Given the description of an element on the screen output the (x, y) to click on. 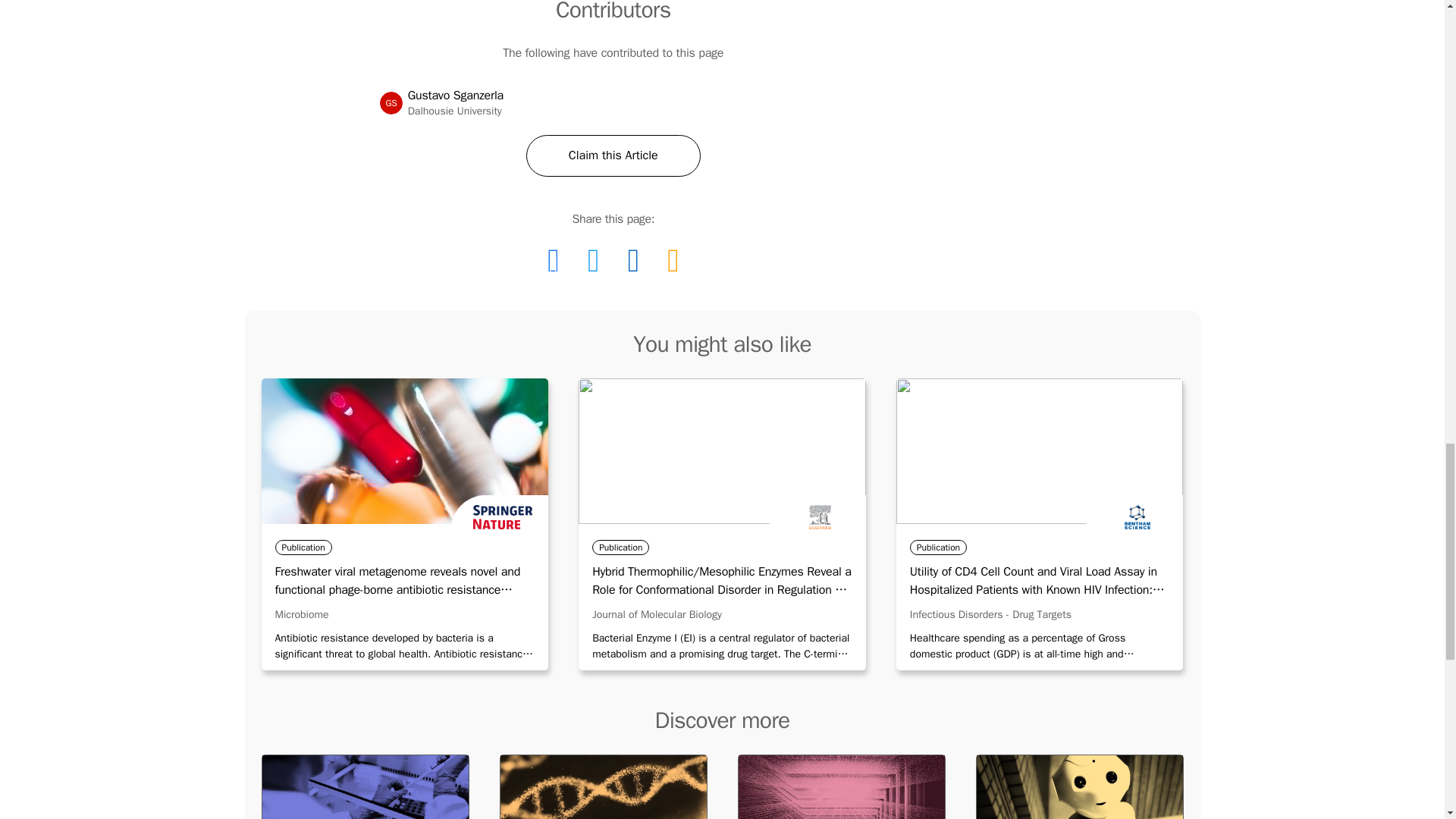
Physical Sciences (840, 786)
Share this page via email (672, 260)
Life Sciences (602, 786)
Share this page via Twitter (391, 102)
Microbiome (593, 260)
Claim this Article (302, 614)
Share this page via LinkedIn (612, 155)
Medical Research (633, 260)
